Given the description of an element on the screen output the (x, y) to click on. 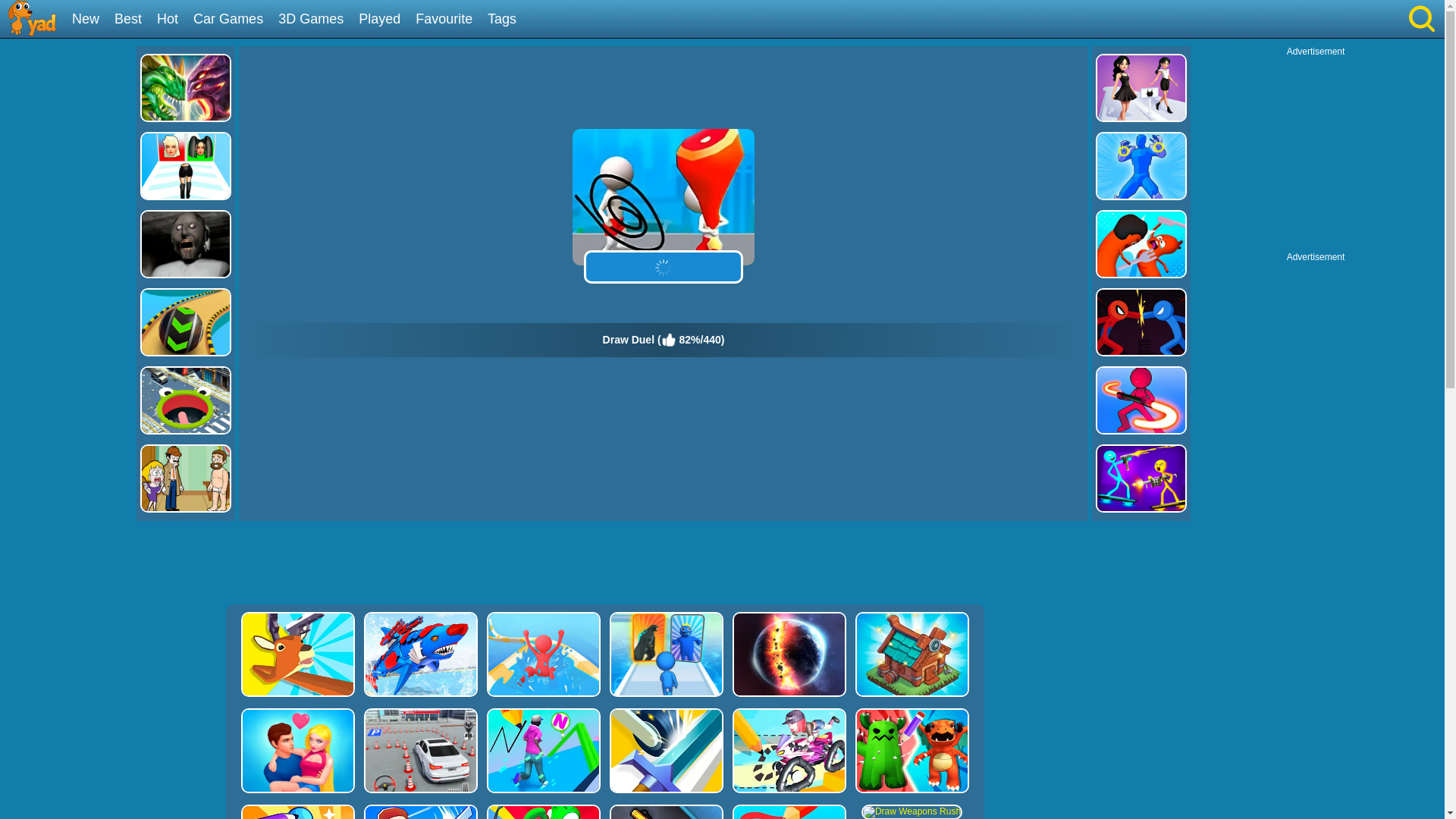
3D Games (316, 20)
Hot (173, 20)
Played (385, 20)
New (90, 20)
Tags (507, 20)
Favourite (448, 20)
Car Games (234, 20)
Best (133, 20)
